Given the description of an element on the screen output the (x, y) to click on. 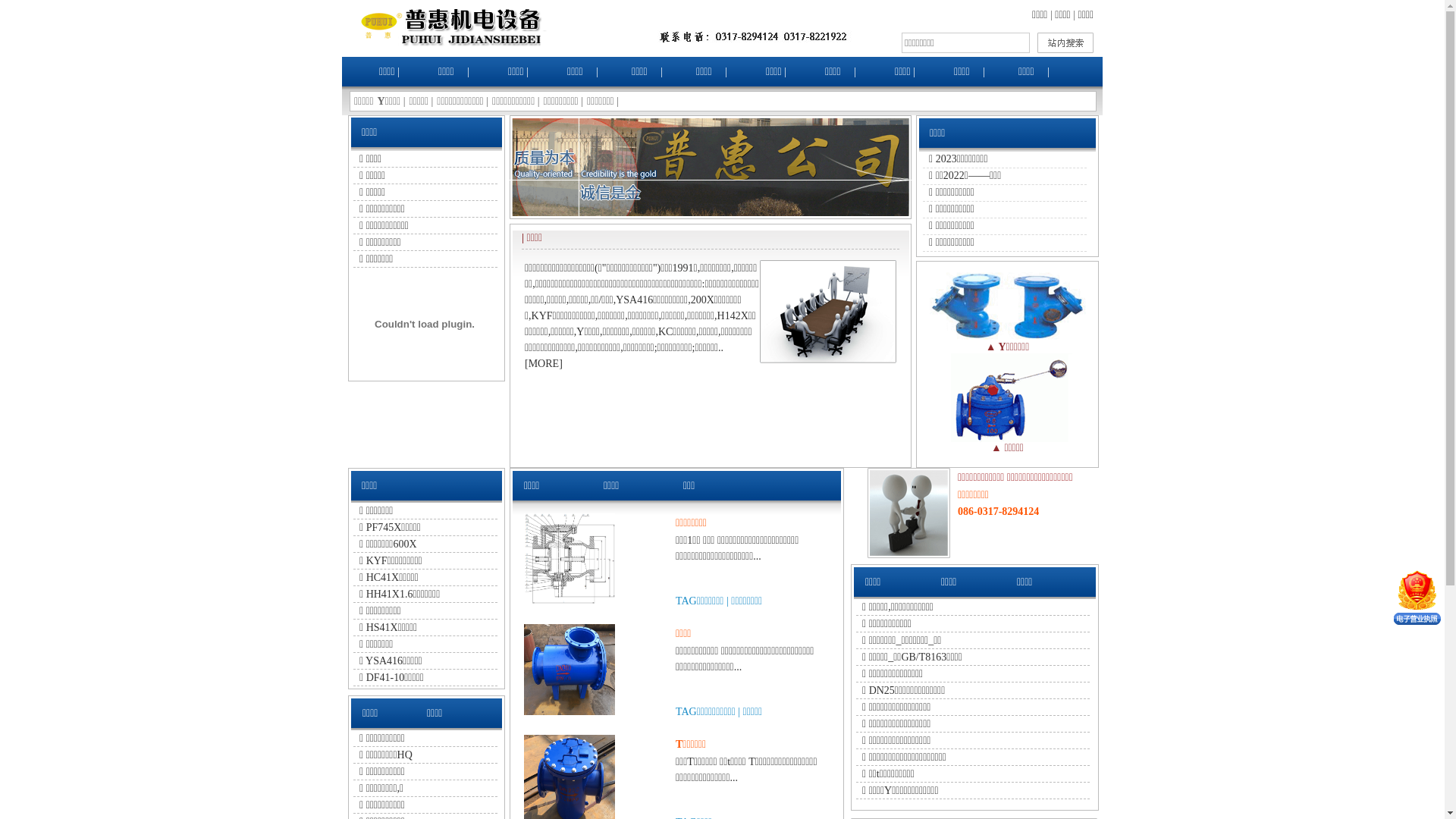
MORE Element type: text (543, 363)
